Given the description of an element on the screen output the (x, y) to click on. 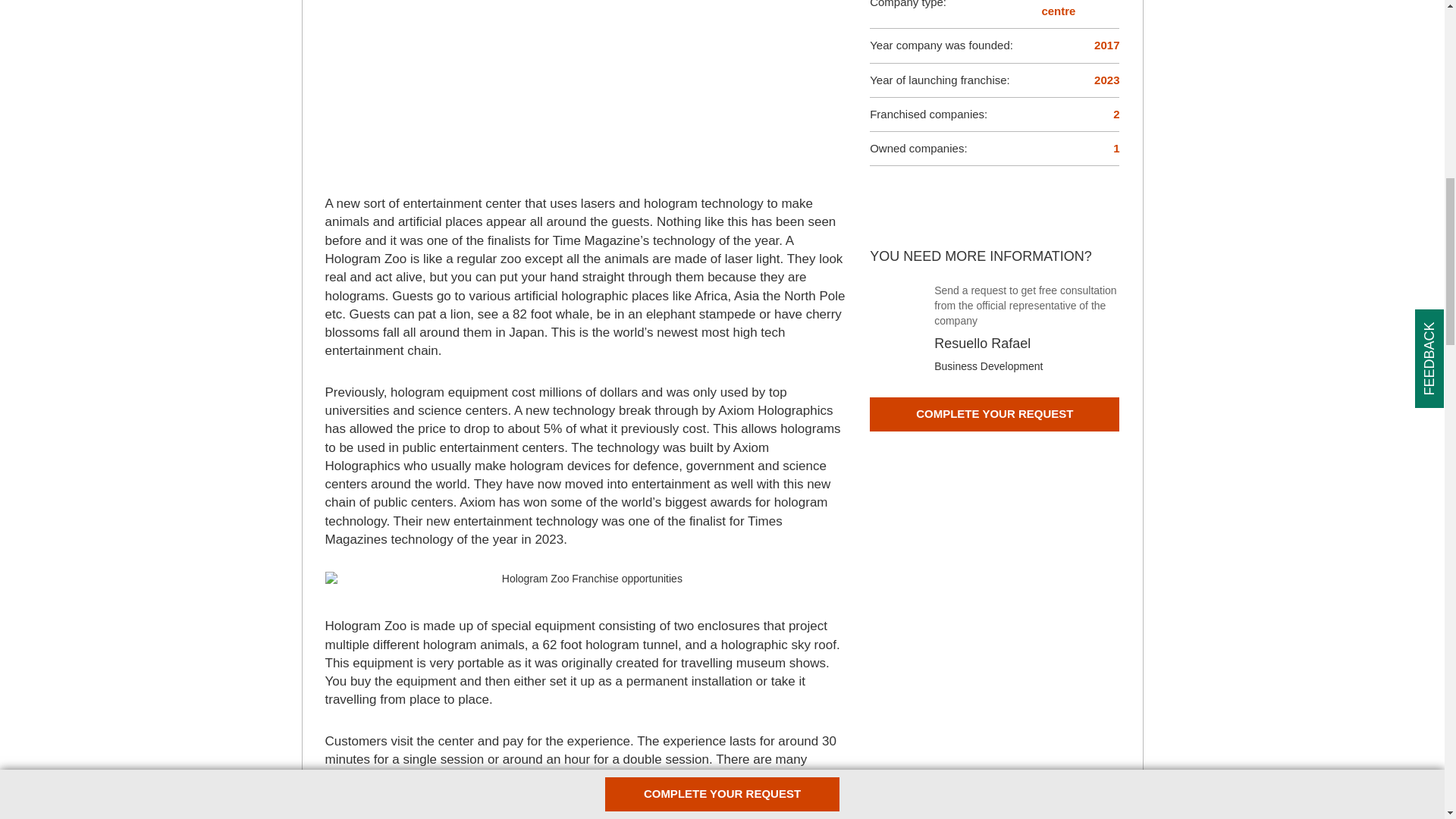
Hologram Zoo Franchise opportunities (585, 579)
